Given the description of an element on the screen output the (x, y) to click on. 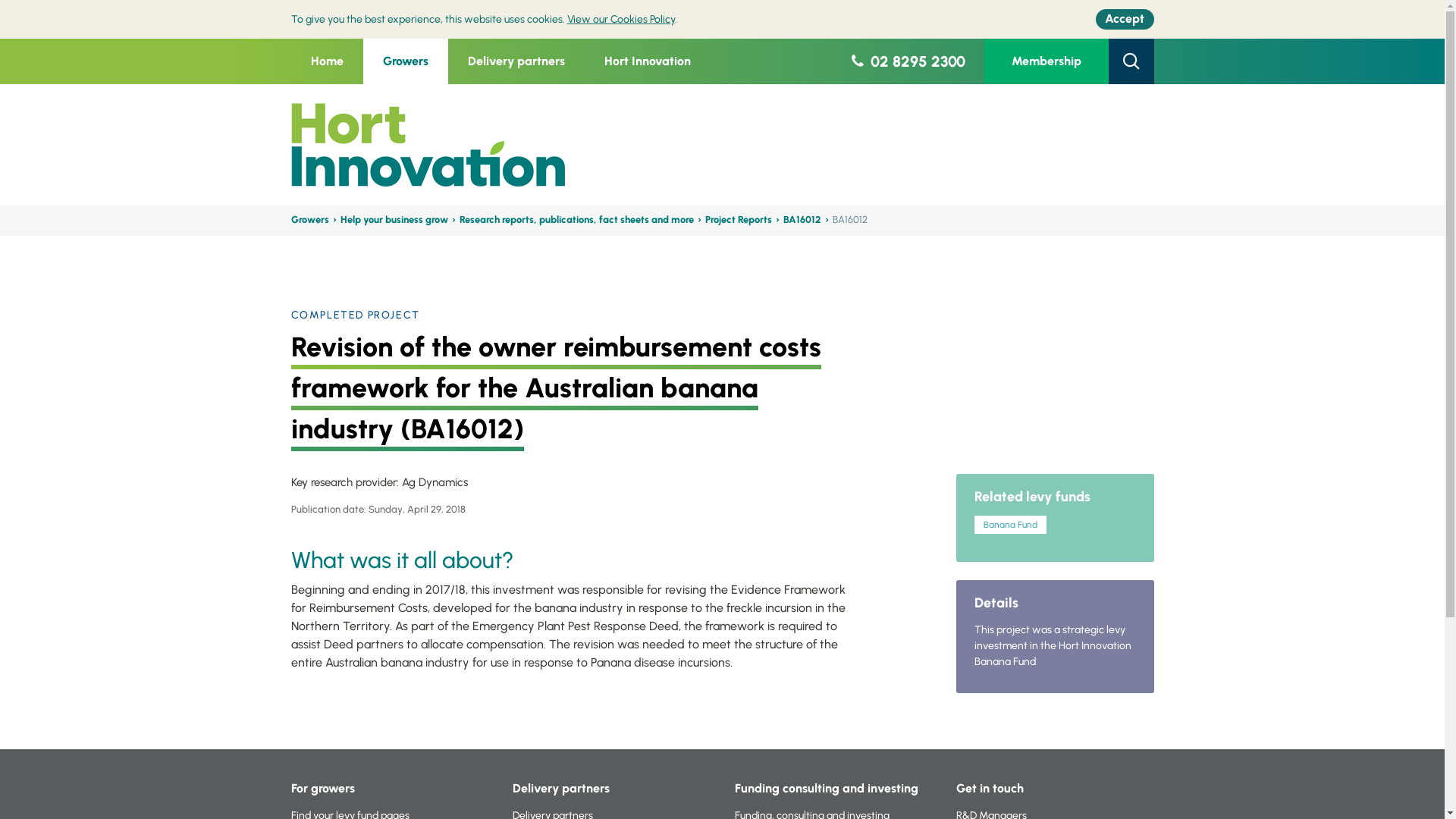
BA16012 Element type: text (805, 219)
Project Reports Element type: text (742, 219)
Growers Element type: text (404, 61)
Banana Fund Element type: text (1010, 524)
Skip to main content Element type: text (0, 0)
Funding consulting and investing Element type: text (825, 788)
Delivery partners Element type: text (560, 788)
For growers Element type: text (322, 788)
Help your business grow Element type: text (397, 219)
Hort Innovation Element type: text (646, 61)
Accept Element type: text (1124, 19)
Get in touch Element type: text (989, 788)
Home Element type: text (327, 61)
View our Cookies Policy Element type: text (620, 18)
Growers Element type: text (313, 219)
Delivery partners Element type: text (515, 61)
Membership Element type: text (1046, 61)
Research reports, publications, fact sheets and more Element type: text (580, 219)
02 8295 2300 Element type: text (905, 61)
